Given the description of an element on the screen output the (x, y) to click on. 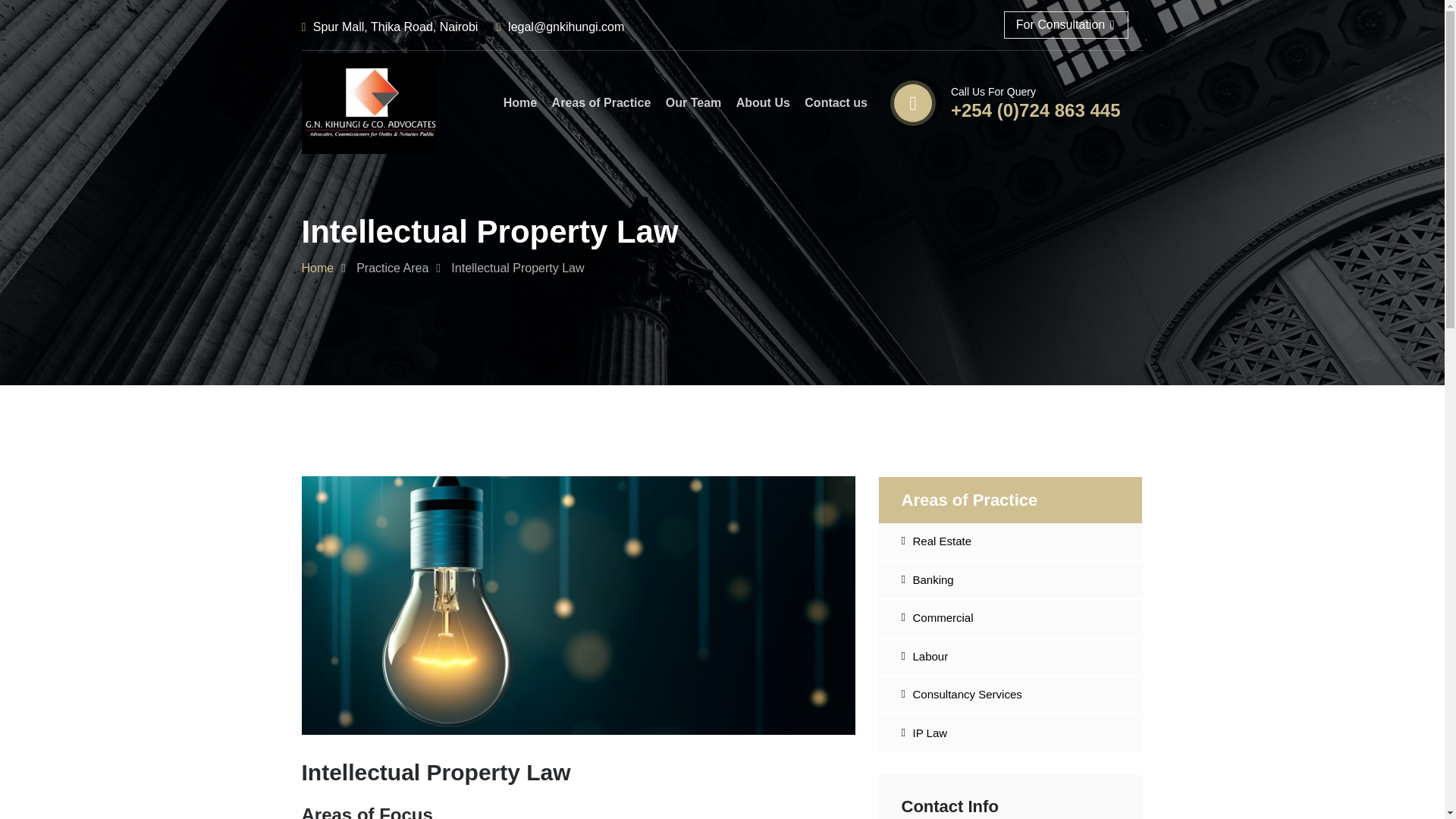
Practice Area (392, 267)
Home (520, 102)
Commercial (943, 617)
Home (317, 267)
About Us (763, 102)
Contact us (836, 102)
Banking (932, 579)
IP Law (929, 732)
Real Estate (942, 540)
Our Team (693, 102)
For Consultation (1066, 24)
Labour (930, 655)
Consultancy Services (967, 694)
Areas of Practice (600, 102)
